Given the description of an element on the screen output the (x, y) to click on. 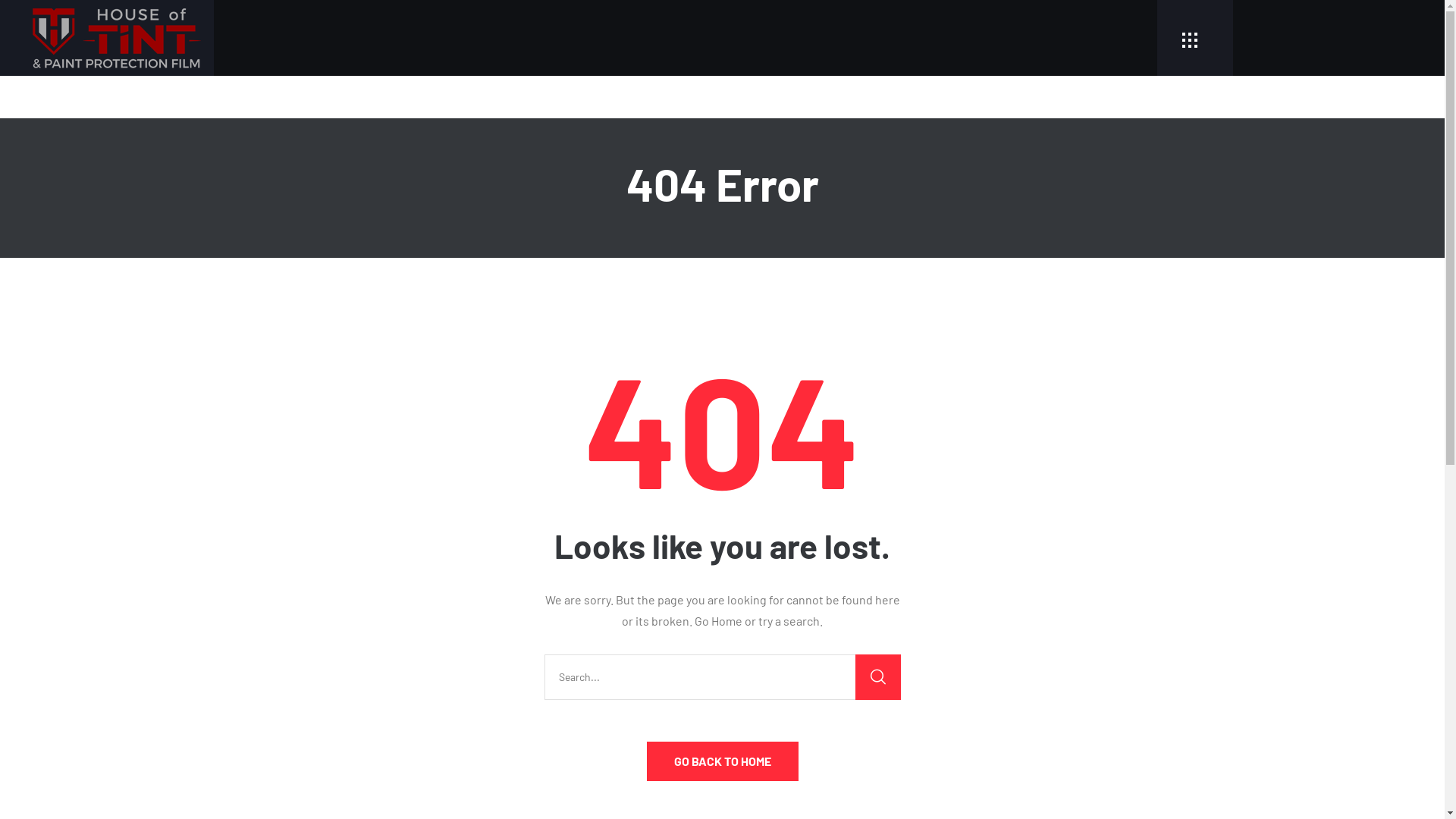
BOOK NOW Element type: text (59, 31)
CALL US Element type: text (52, 10)
GO BACK TO HOME Element type: text (721, 761)
